Given the description of an element on the screen output the (x, y) to click on. 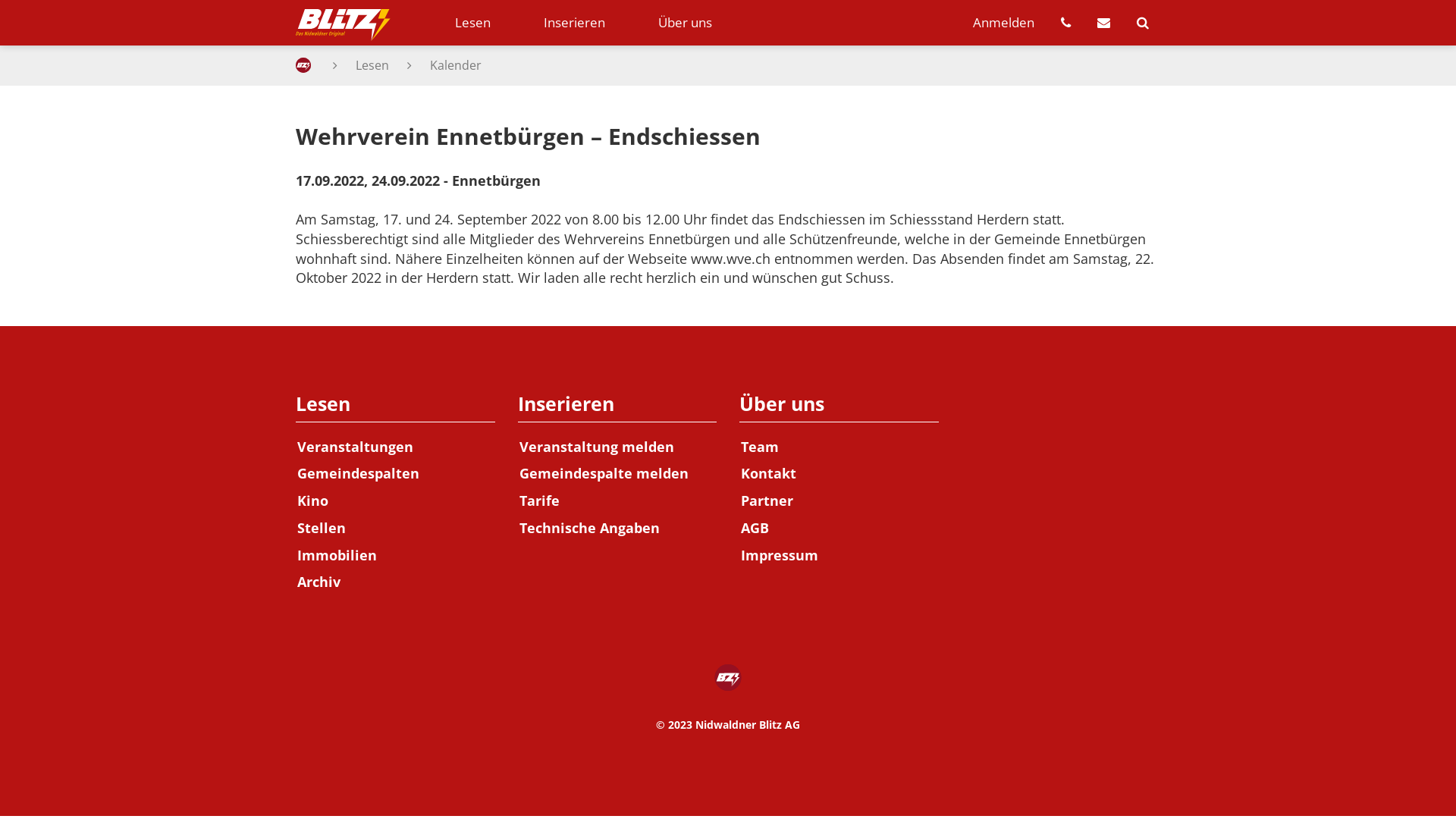
Anmelden Element type: text (1003, 22)
Immobilien Element type: text (395, 555)
Inserieren Element type: text (616, 404)
Lesen Element type: text (472, 22)
Partner Element type: text (838, 500)
Kontakt Element type: text (838, 473)
Stellen Element type: text (395, 528)
Veranstaltungen Element type: text (395, 447)
Lesen Element type: text (395, 404)
Technische Angaben Element type: text (616, 528)
Inserieren Element type: text (574, 22)
Gemeindespalte melden Element type: text (616, 473)
Team Element type: text (838, 447)
Tarife Element type: text (616, 500)
Lesen Element type: text (372, 65)
AGB Element type: text (838, 528)
Gemeindespalten Element type: text (395, 473)
Kino Element type: text (395, 500)
Kalender Element type: text (455, 65)
Impressum Element type: text (838, 555)
Archiv Element type: text (395, 582)
Veranstaltung melden Element type: text (616, 447)
